Given the description of an element on the screen output the (x, y) to click on. 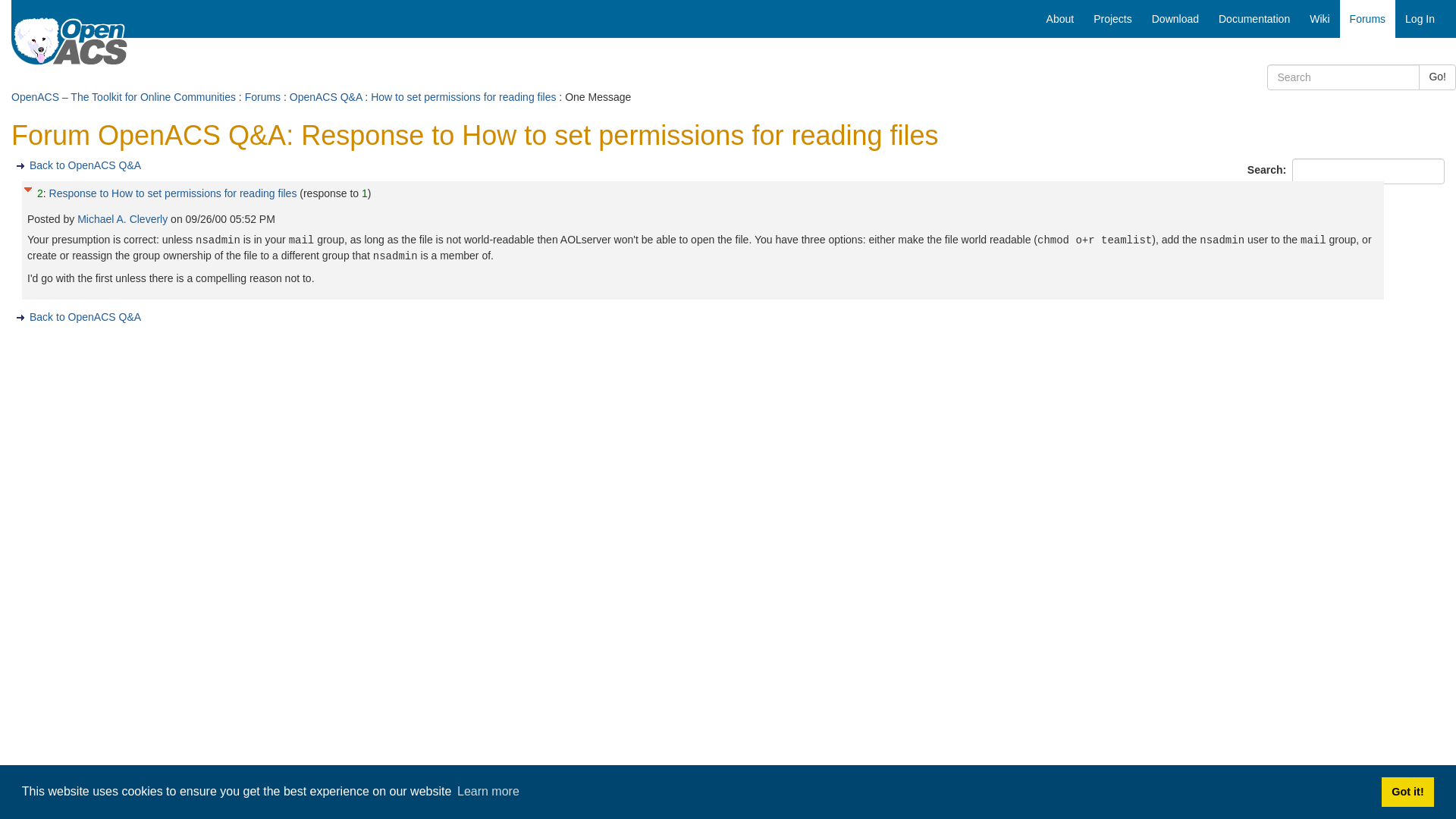
Wiki (1319, 18)
About OpenACS (1060, 18)
Log In (1419, 18)
Forums (1366, 18)
Projects (1112, 18)
OpenACS Core, API and Package Documentation (1254, 18)
Response to How to set permissions for reading files (173, 193)
About (1060, 18)
Enter keywords to search for (1342, 77)
Projects based on OpenACS (1112, 18)
Download (1174, 18)
Download OpenACS (1174, 18)
Wiki with User Contributed Content (1319, 18)
How to set permissions for reading files (463, 96)
Link to this post on a separate page (173, 193)
